Given the description of an element on the screen output the (x, y) to click on. 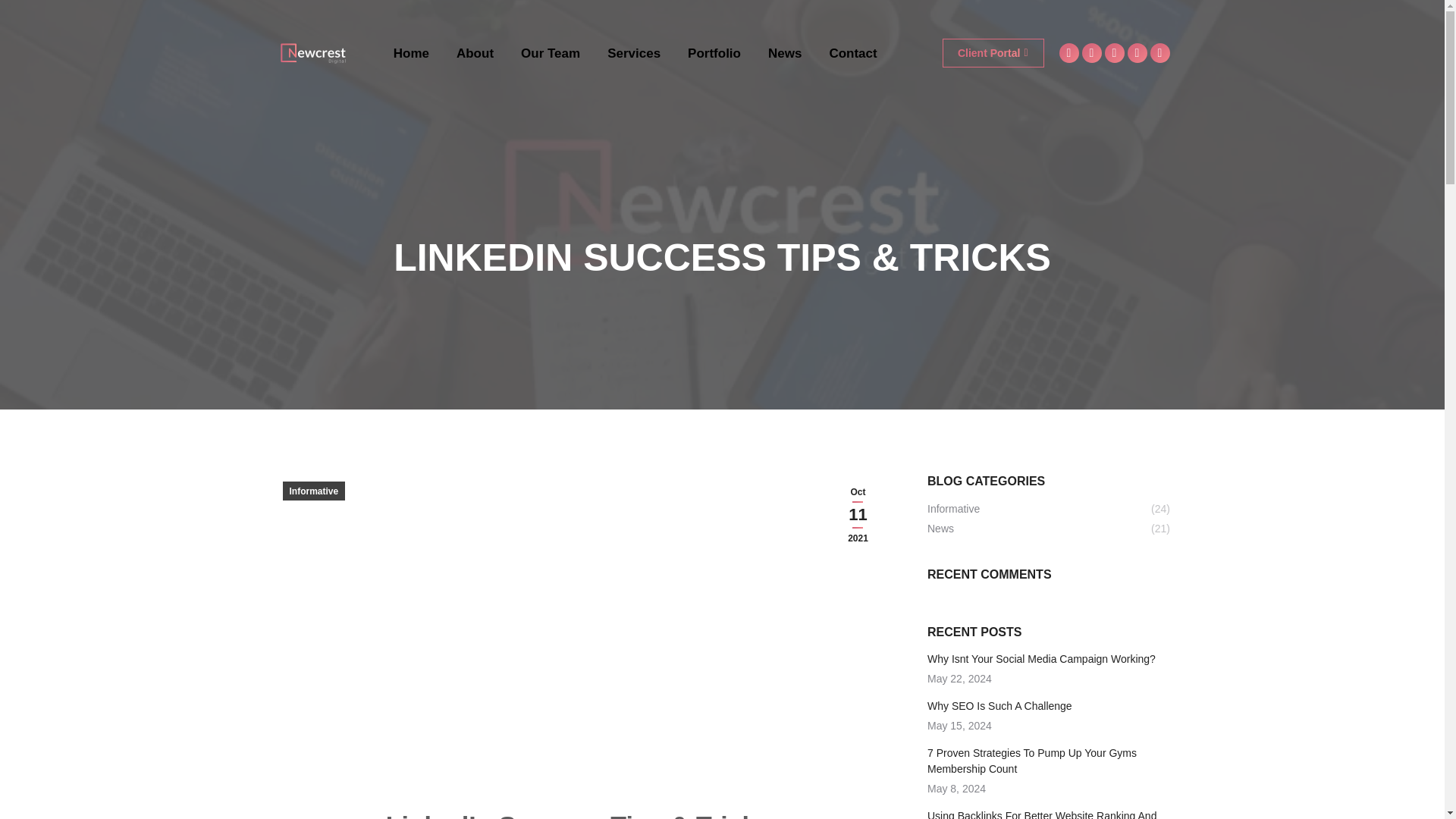
Linkedin page opens in new window (1113, 53)
Twitter page opens in new window (1090, 53)
Home (411, 53)
YouTube page opens in new window (1159, 53)
Facebook page opens in new window (1068, 53)
About (474, 53)
Linkedin page opens in new window (1113, 53)
YouTube page opens in new window (1159, 53)
Instagram page opens in new window (1136, 53)
News (785, 53)
Facebook page opens in new window (1068, 53)
Our Team (550, 53)
Twitter page opens in new window (1090, 53)
Services (633, 53)
Portfolio (714, 53)
